Given the description of an element on the screen output the (x, y) to click on. 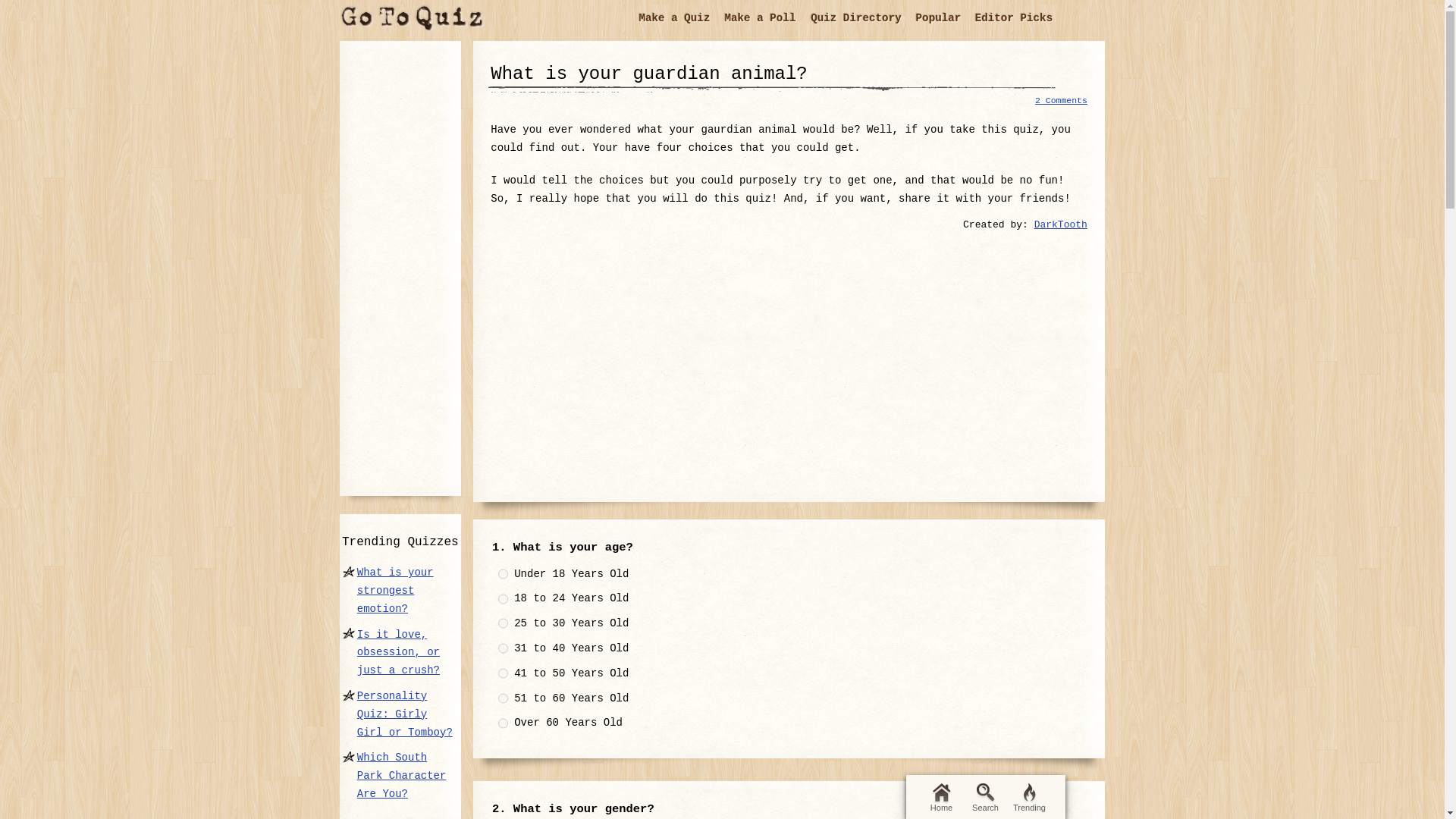
2 (502, 598)
Home (940, 796)
Which South Park Character Are You? (401, 775)
Advertisement (789, 358)
Make a Quiz (676, 18)
6 (502, 697)
Quiz Directory (858, 18)
What is your strongest emotion? (394, 590)
Popular (939, 18)
DarkTooth (1060, 224)
